Given the description of an element on the screen output the (x, y) to click on. 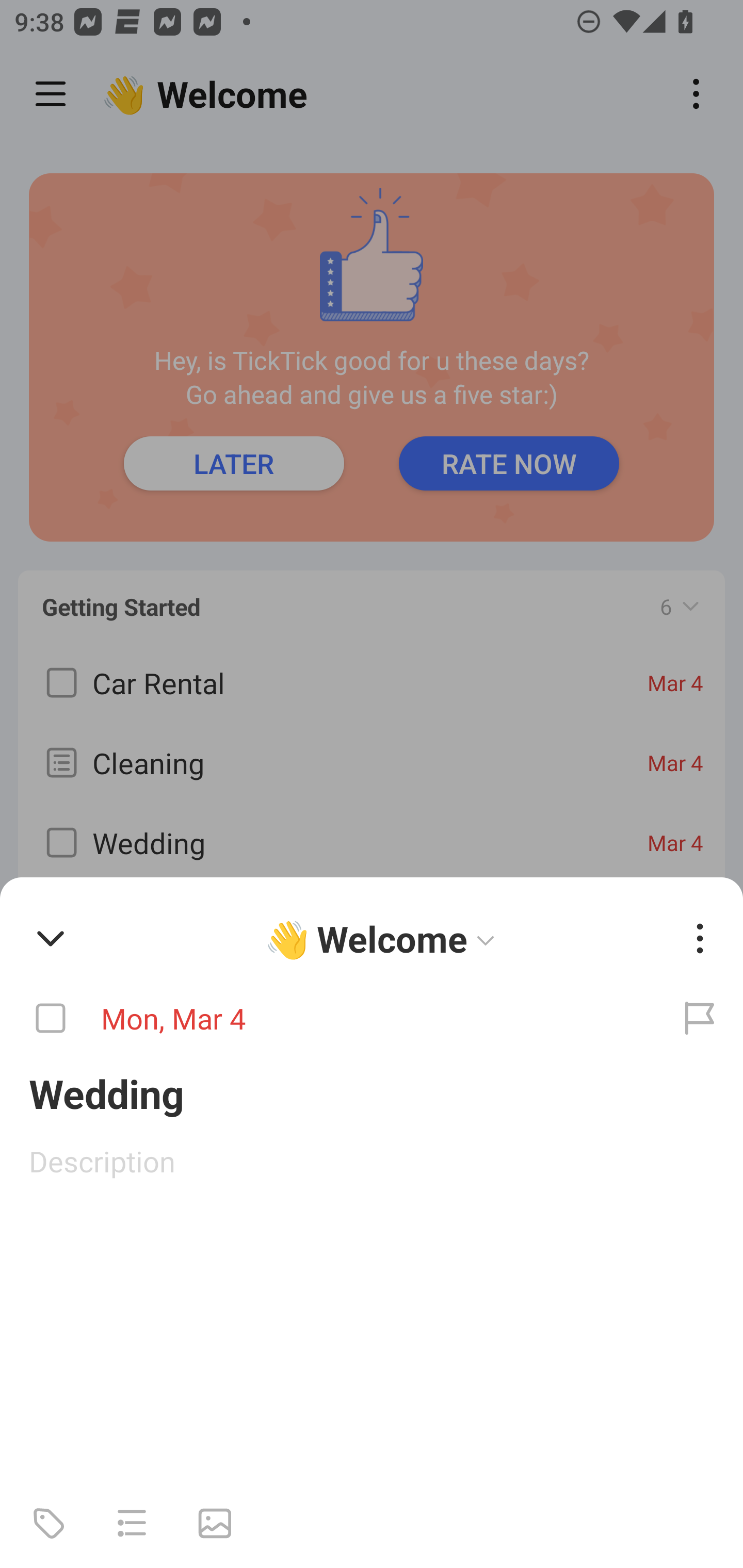
👋 Welcome (209, 93)
👋 Welcome (384, 938)
Mon, Mar 4  (328, 1019)
Wedding (371, 1092)
Description (371, 1160)
